Given the description of an element on the screen output the (x, y) to click on. 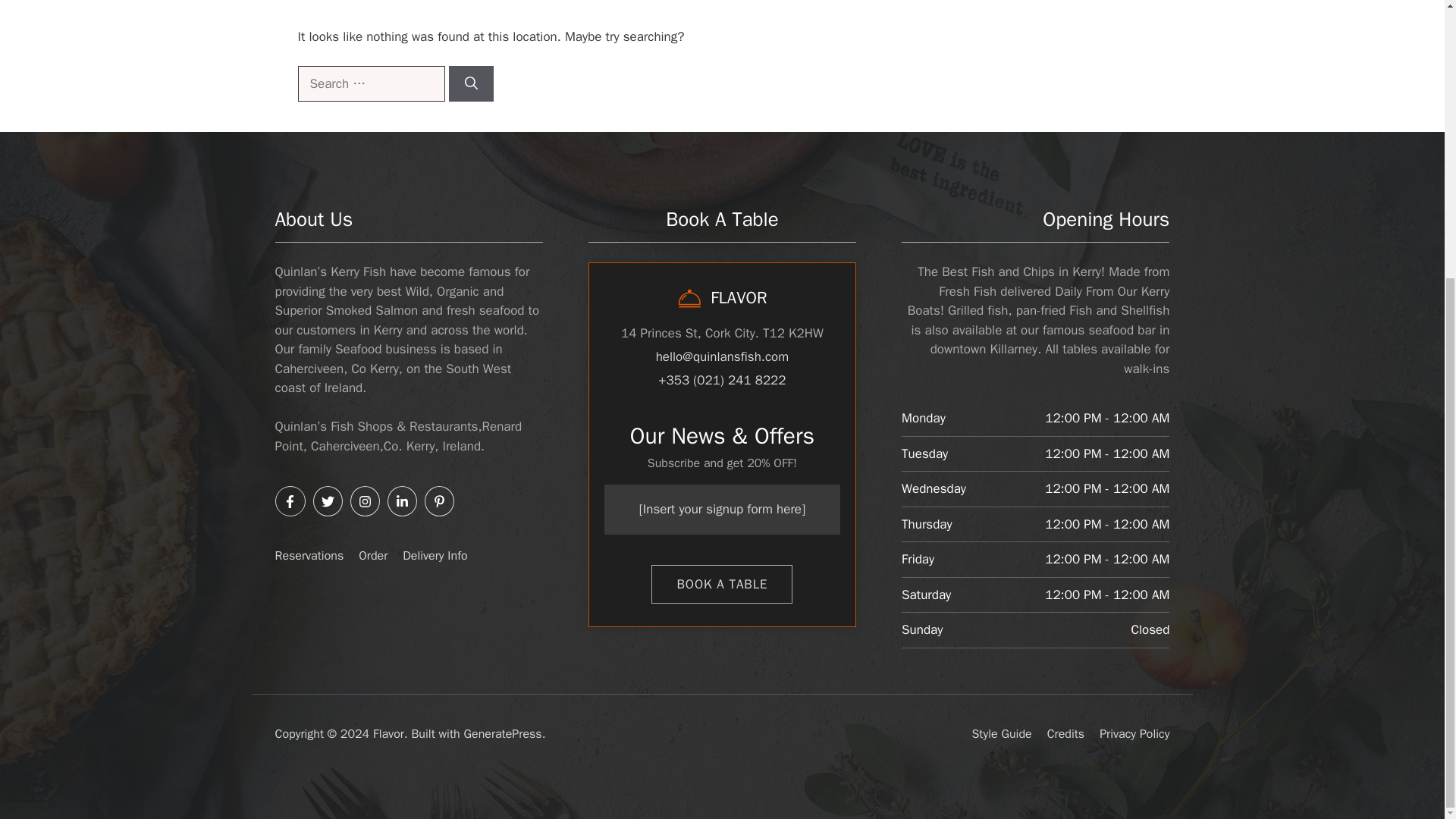
Order (372, 555)
Reservations (309, 555)
Style Guide (1000, 734)
Delivery Info (435, 555)
Search for: (370, 84)
BOOK A TABLE (721, 584)
Privacy Policy (1134, 734)
Credits (1065, 734)
GeneratePress (502, 734)
